Given the description of an element on the screen output the (x, y) to click on. 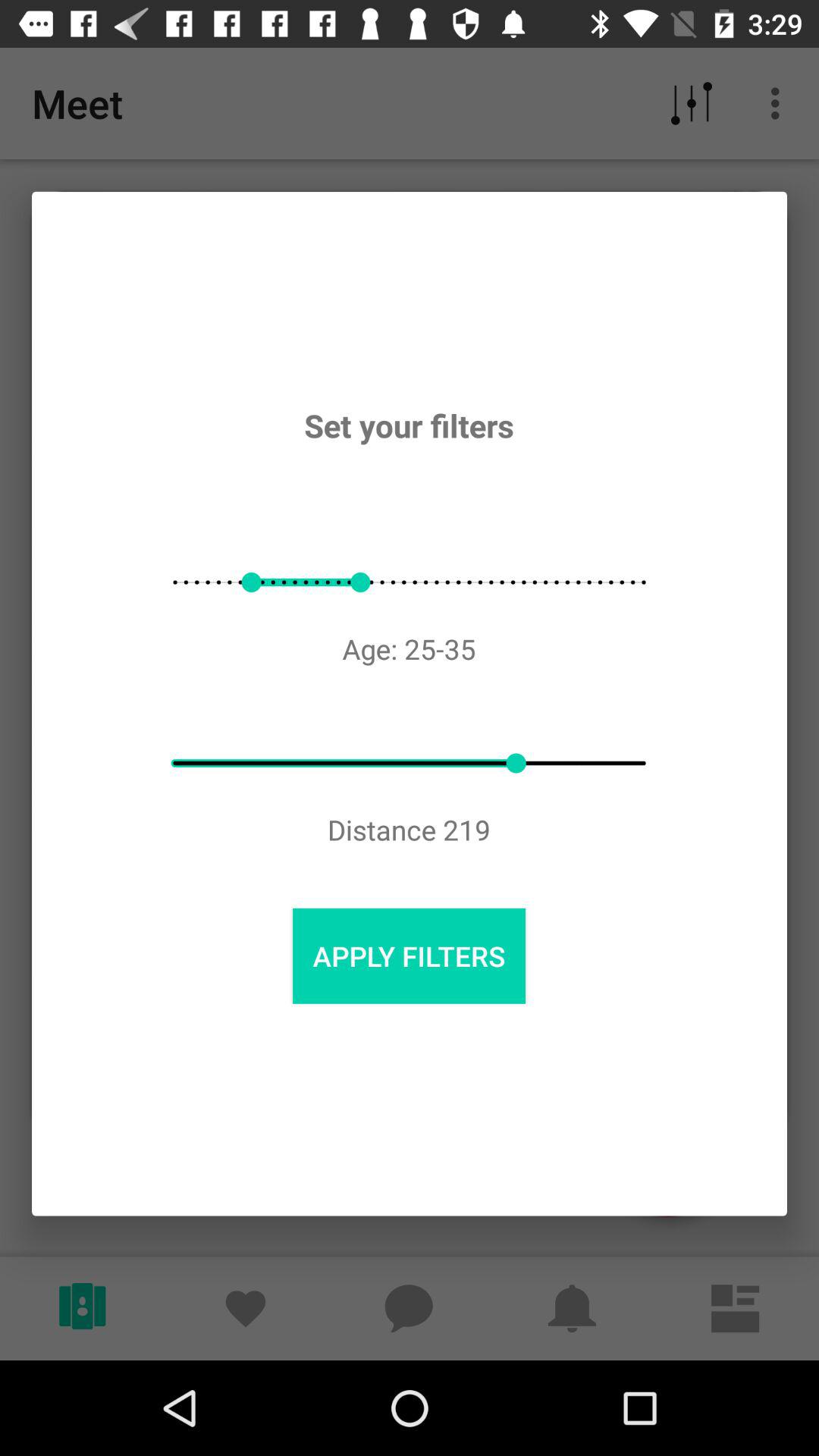
choose the apply filters item (408, 955)
